Given the description of an element on the screen output the (x, y) to click on. 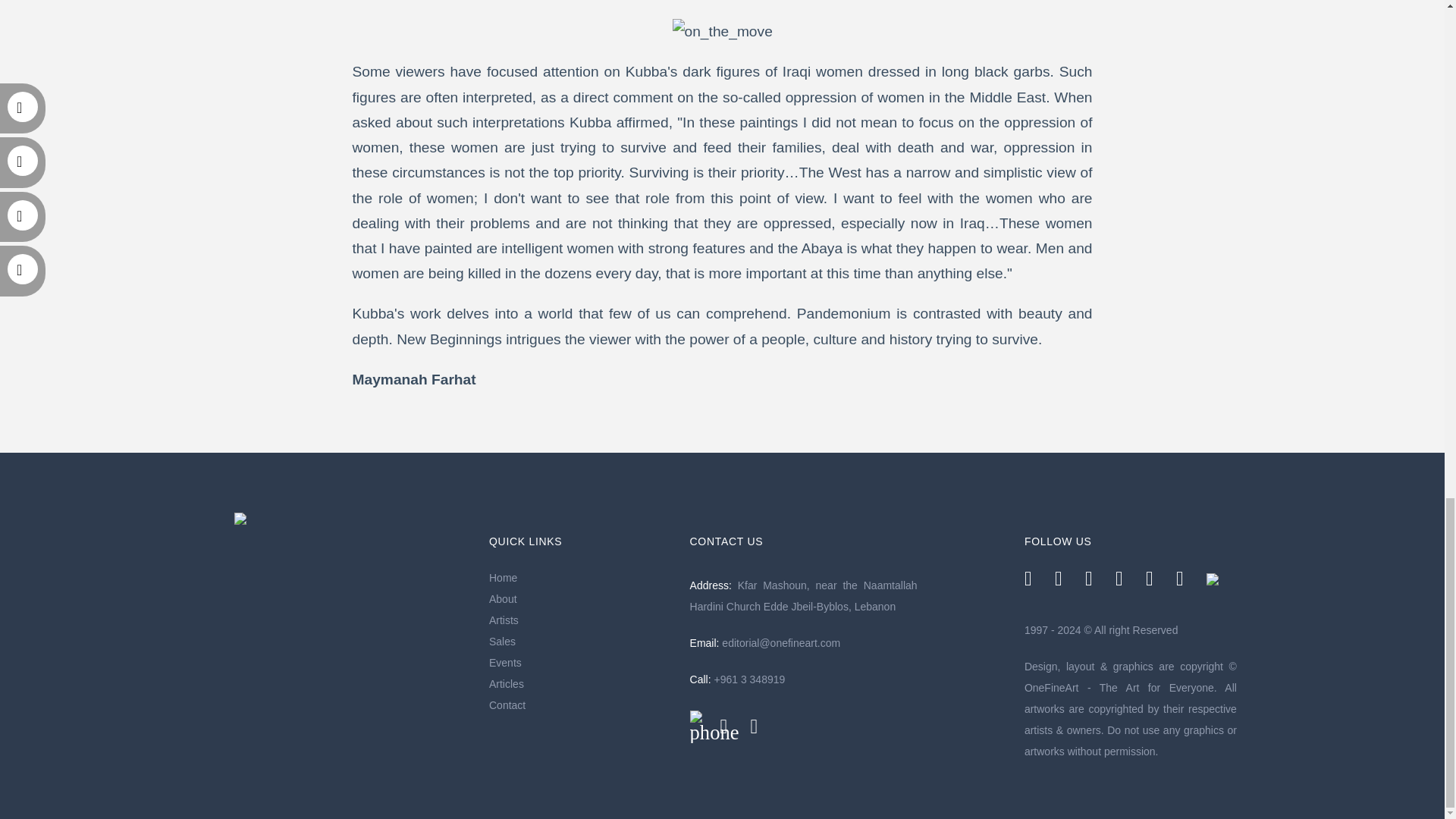
Sales (582, 640)
Home (582, 577)
Events (582, 662)
Artists (582, 619)
Contact (582, 704)
Articles (582, 683)
About (582, 598)
